Given the description of an element on the screen output the (x, y) to click on. 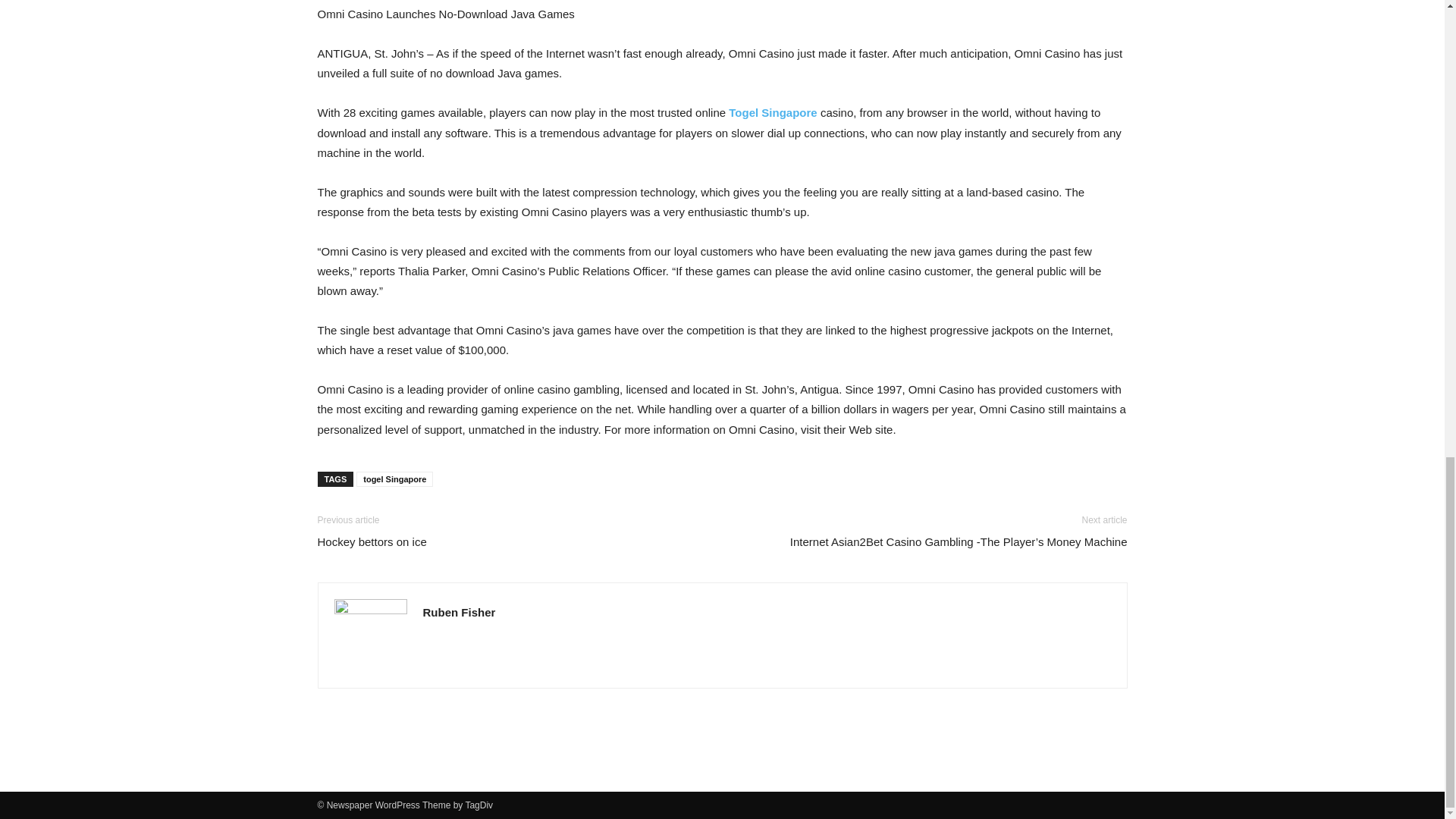
togel Singapore (394, 478)
Togel Singapore (772, 112)
Ruben Fisher (459, 612)
Hockey bettors on ice (371, 541)
